Given the description of an element on the screen output the (x, y) to click on. 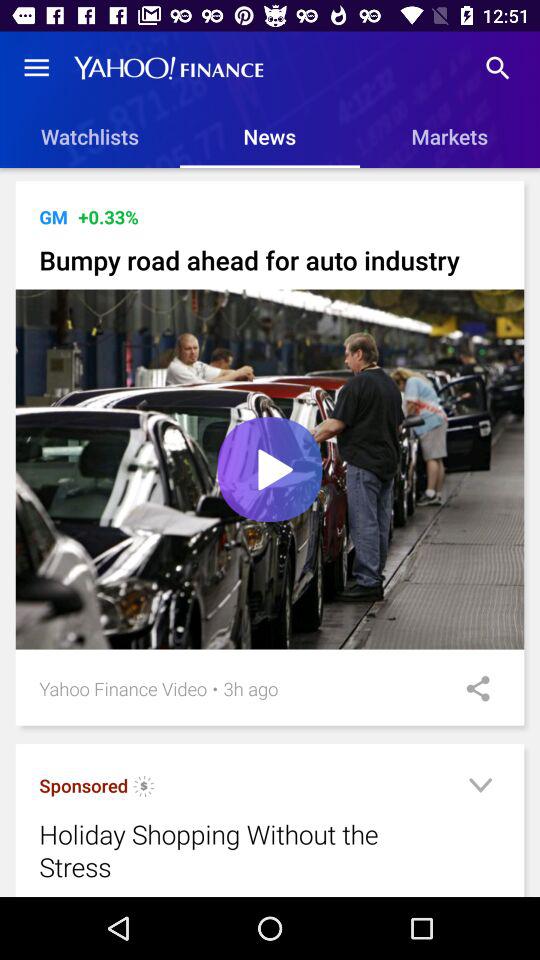
choose icon above watchlists (36, 68)
